Given the description of an element on the screen output the (x, y) to click on. 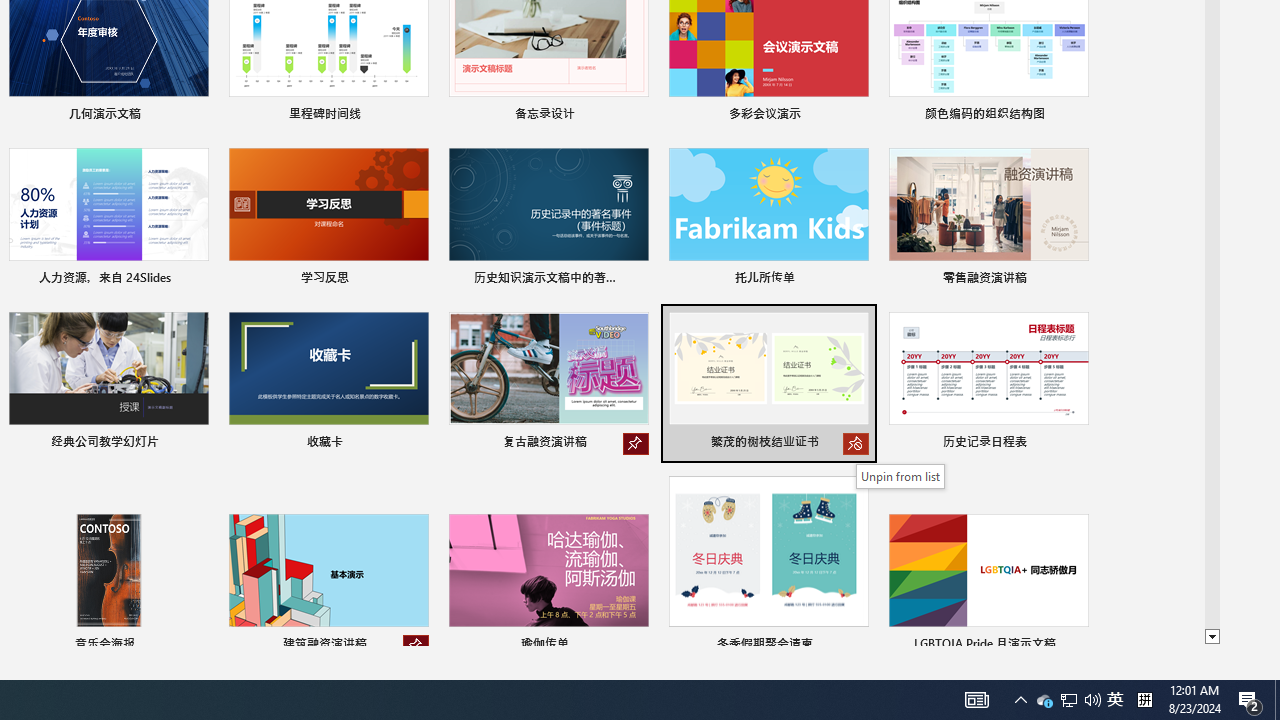
Unpin from list (415, 645)
Unpin from list (900, 475)
Pin to list (1075, 645)
